Given the description of an element on the screen output the (x, y) to click on. 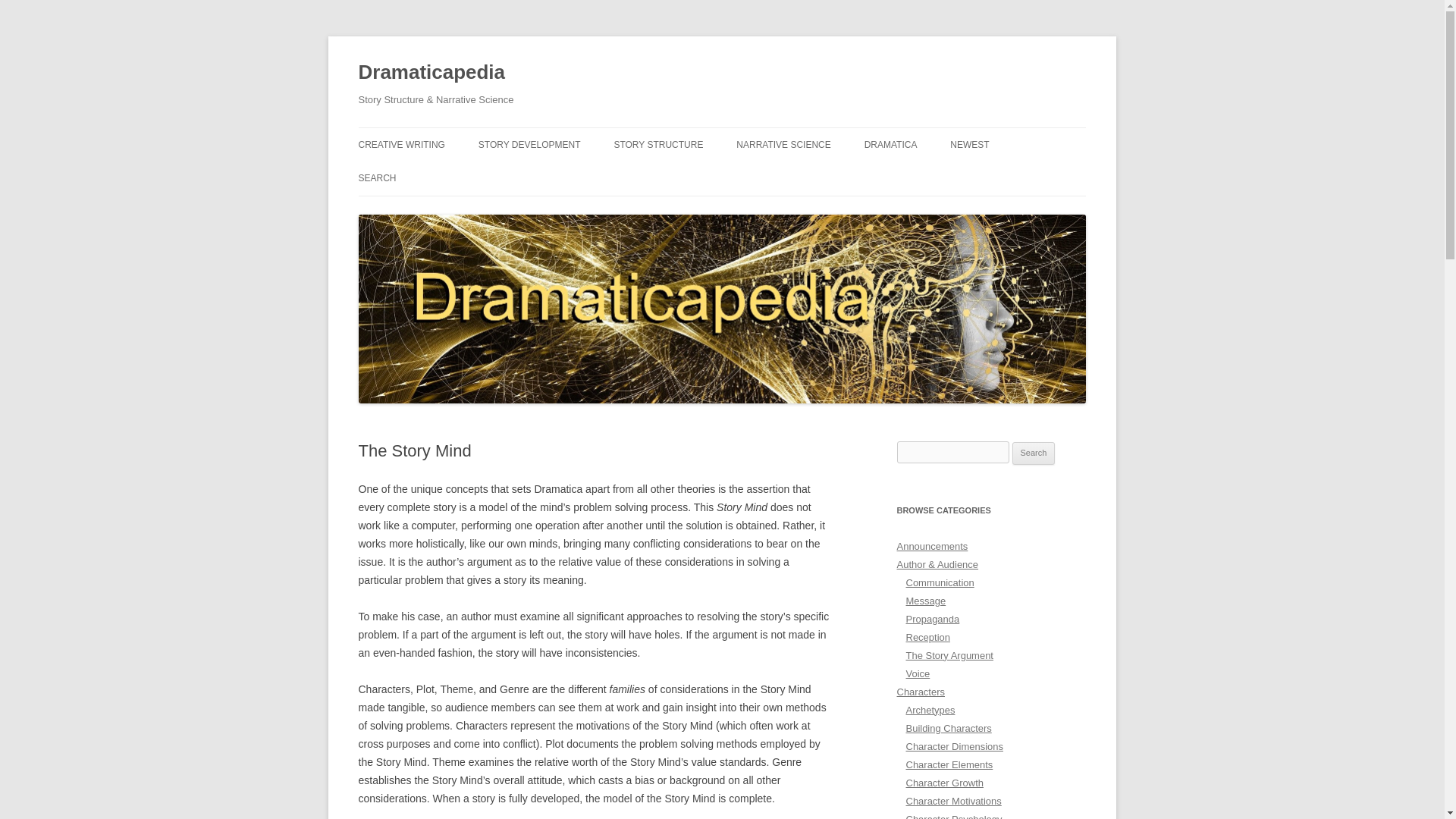
NARRATIVE SCIENCE (782, 144)
Search (1033, 453)
NEWEST (969, 144)
MOST POPULAR ARTICLES (940, 176)
Search (1033, 453)
STORY STRUCTURE (657, 144)
CREATIVE WRITING (401, 144)
STORY DEVELOPMENT (529, 144)
Dramaticapedia (431, 72)
MOST POPULAR ARTICLES (554, 176)
Dramaticapedia (431, 72)
SEARCH (377, 177)
DRAMATICA (890, 144)
MOST POPULAR ARTICLES (688, 176)
